Given the description of an element on the screen output the (x, y) to click on. 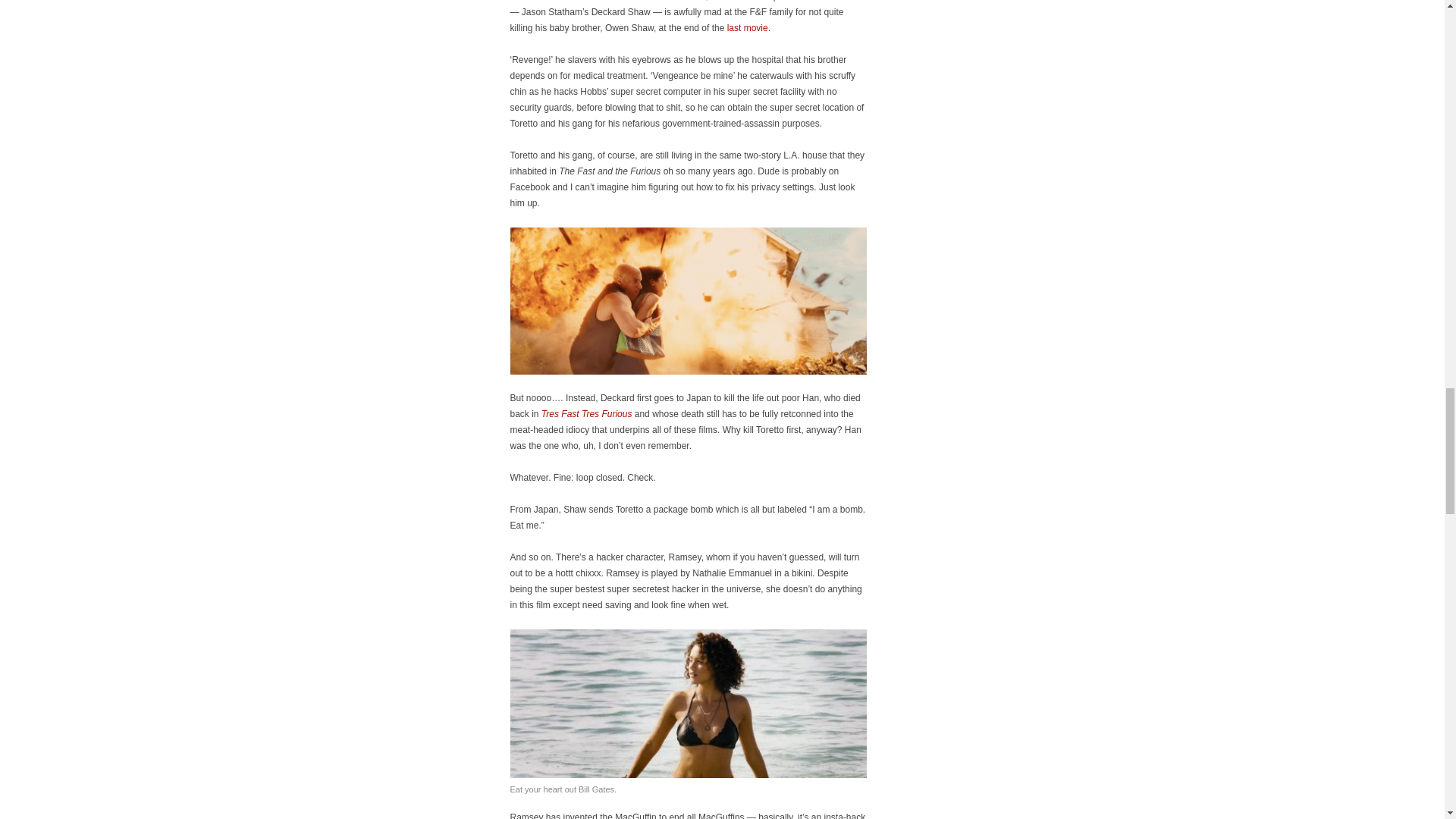
last movie (747, 27)
The Fast and the Furious: Tokyo Drift Off to Sleep (586, 413)
Tres Fast Tres Furious (586, 413)
